Given the description of an element on the screen output the (x, y) to click on. 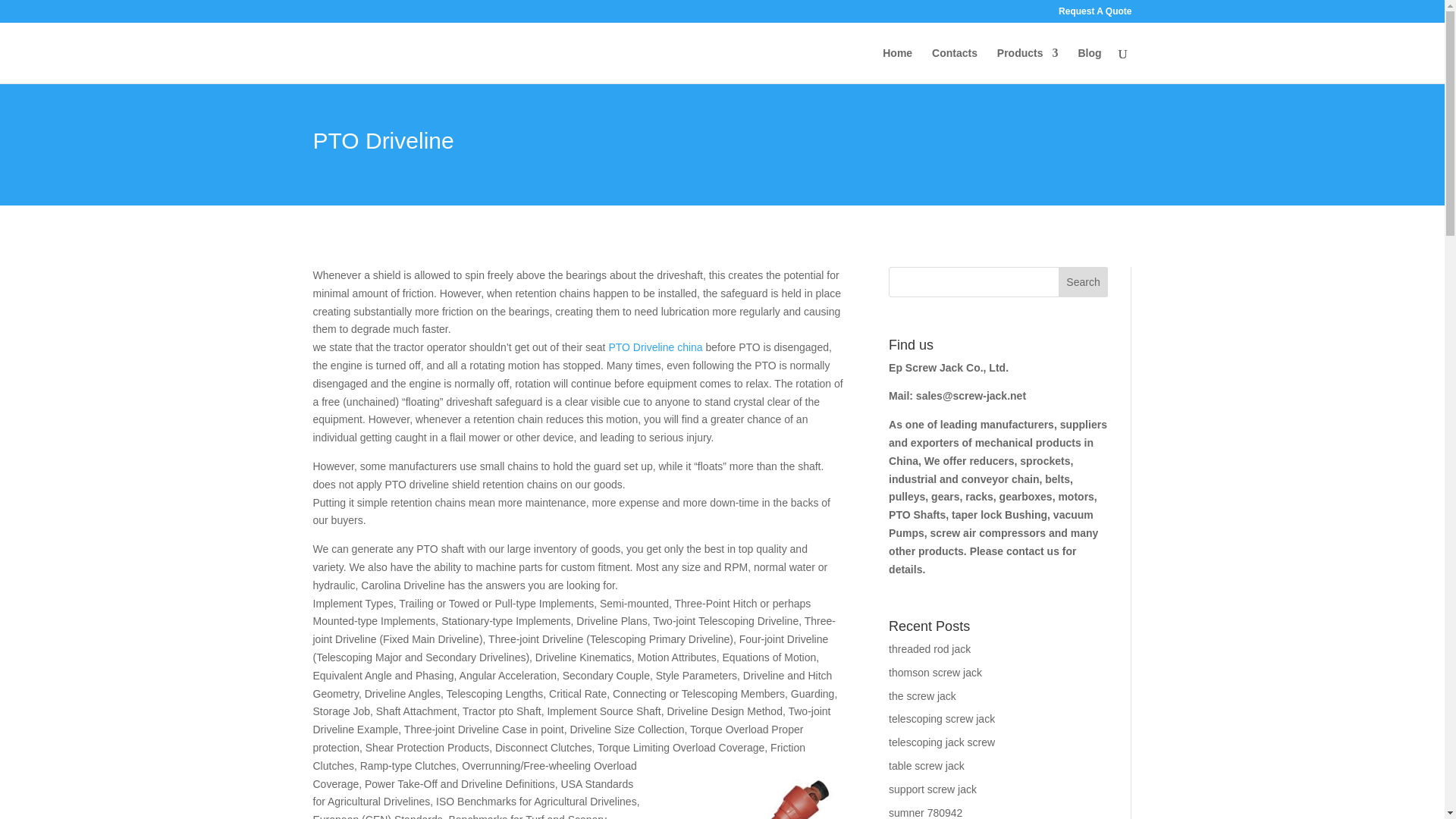
threaded rod jack (929, 648)
support screw jack (932, 788)
thomson screw jack (934, 672)
Contacts (953, 65)
Search (1083, 281)
Search (1083, 281)
sumner 780942 (925, 812)
PTO Driveline china (654, 346)
Request A Quote (1094, 14)
telescoping jack screw (941, 742)
the screw jack (922, 695)
Products (1027, 65)
table screw jack (925, 766)
telescoping screw jack (941, 718)
